Given the description of an element on the screen output the (x, y) to click on. 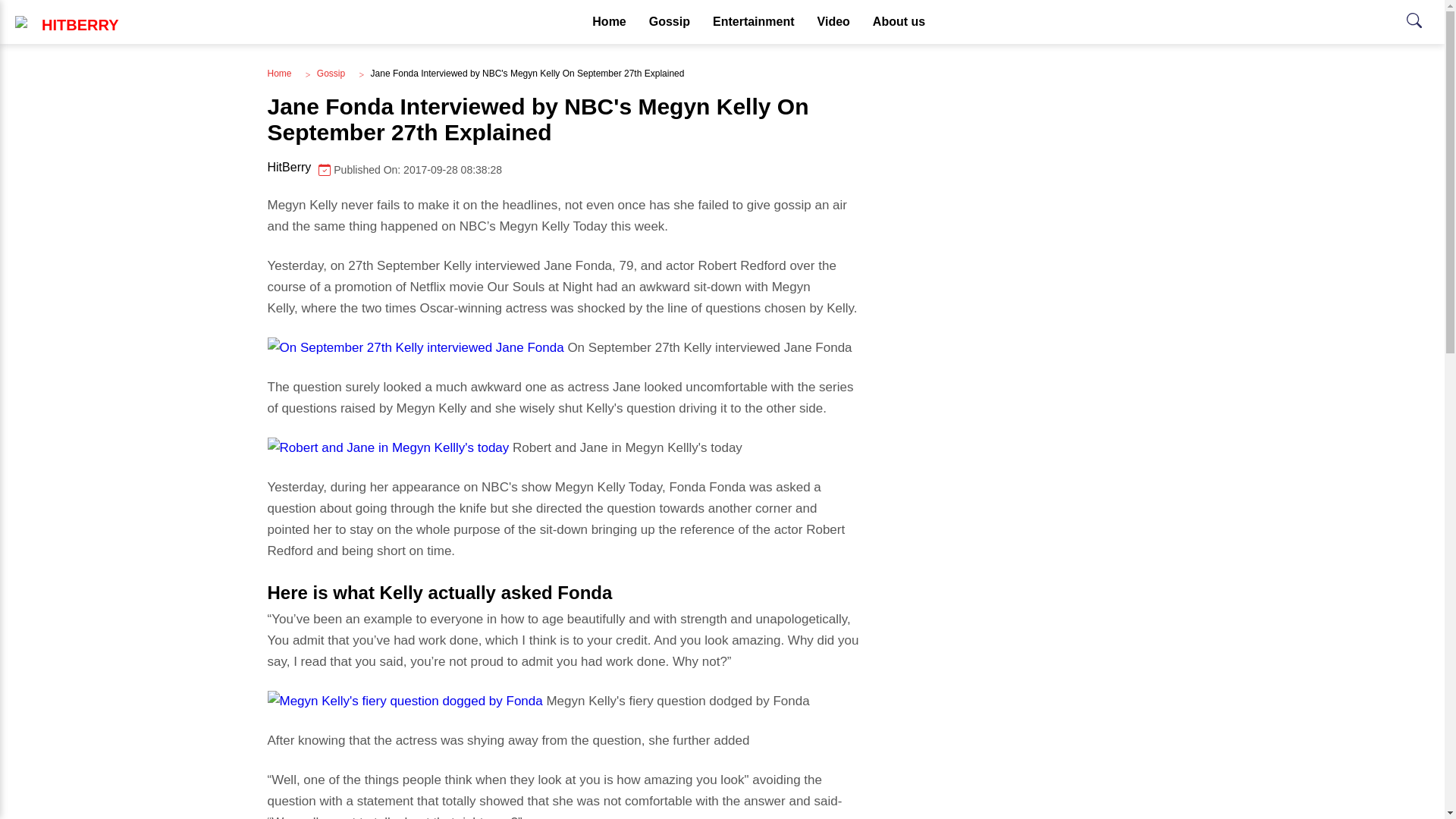
Home (278, 72)
Gossip (669, 22)
Home (608, 22)
About us (562, 169)
Video (898, 22)
Entertainment (833, 22)
Gossip (753, 22)
HITBERRY (331, 72)
